Given the description of an element on the screen output the (x, y) to click on. 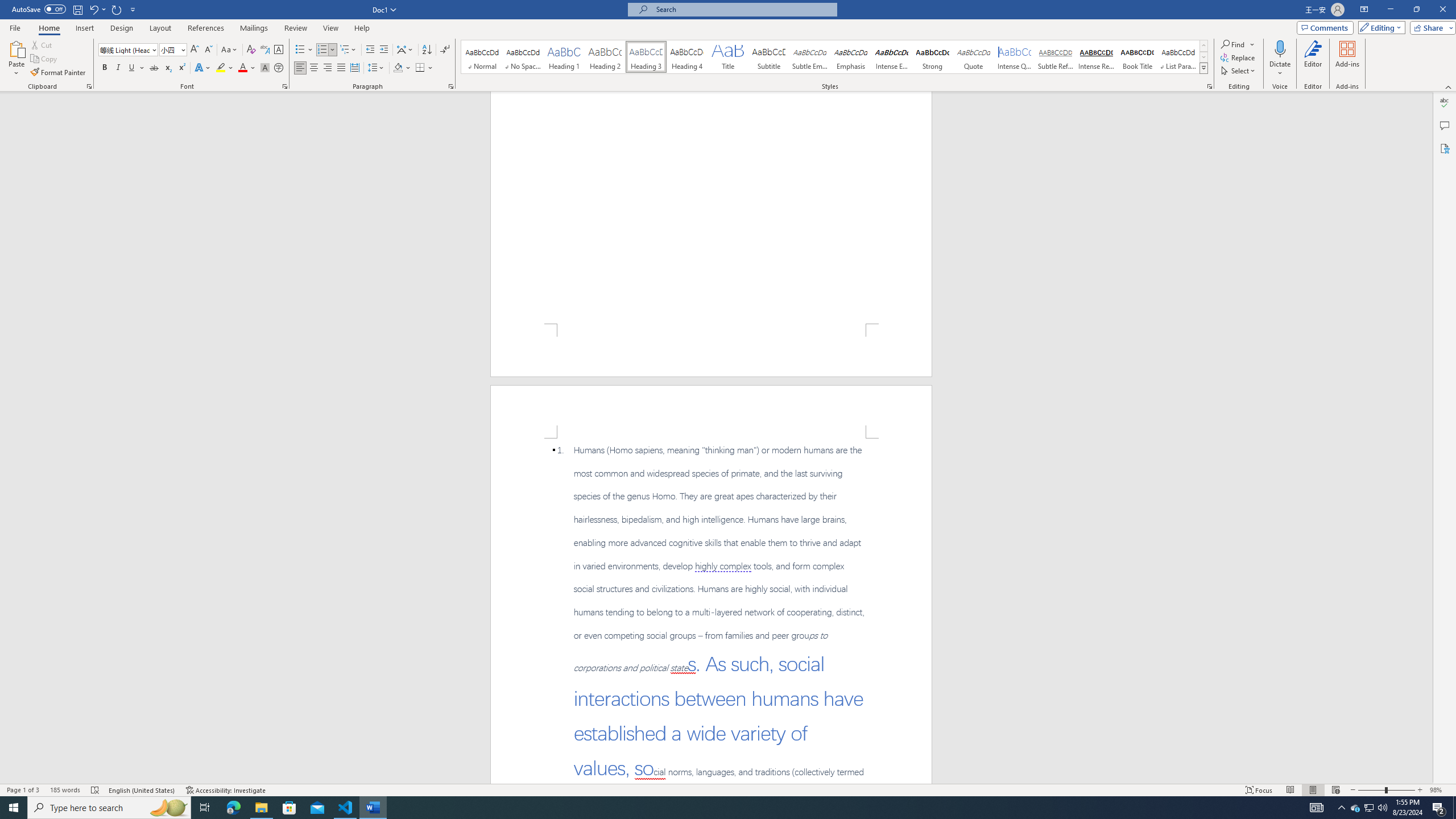
Page 1 content (710, 207)
Strong (932, 56)
Book Title (1136, 56)
Intense Reference (1095, 56)
